Given the description of an element on the screen output the (x, y) to click on. 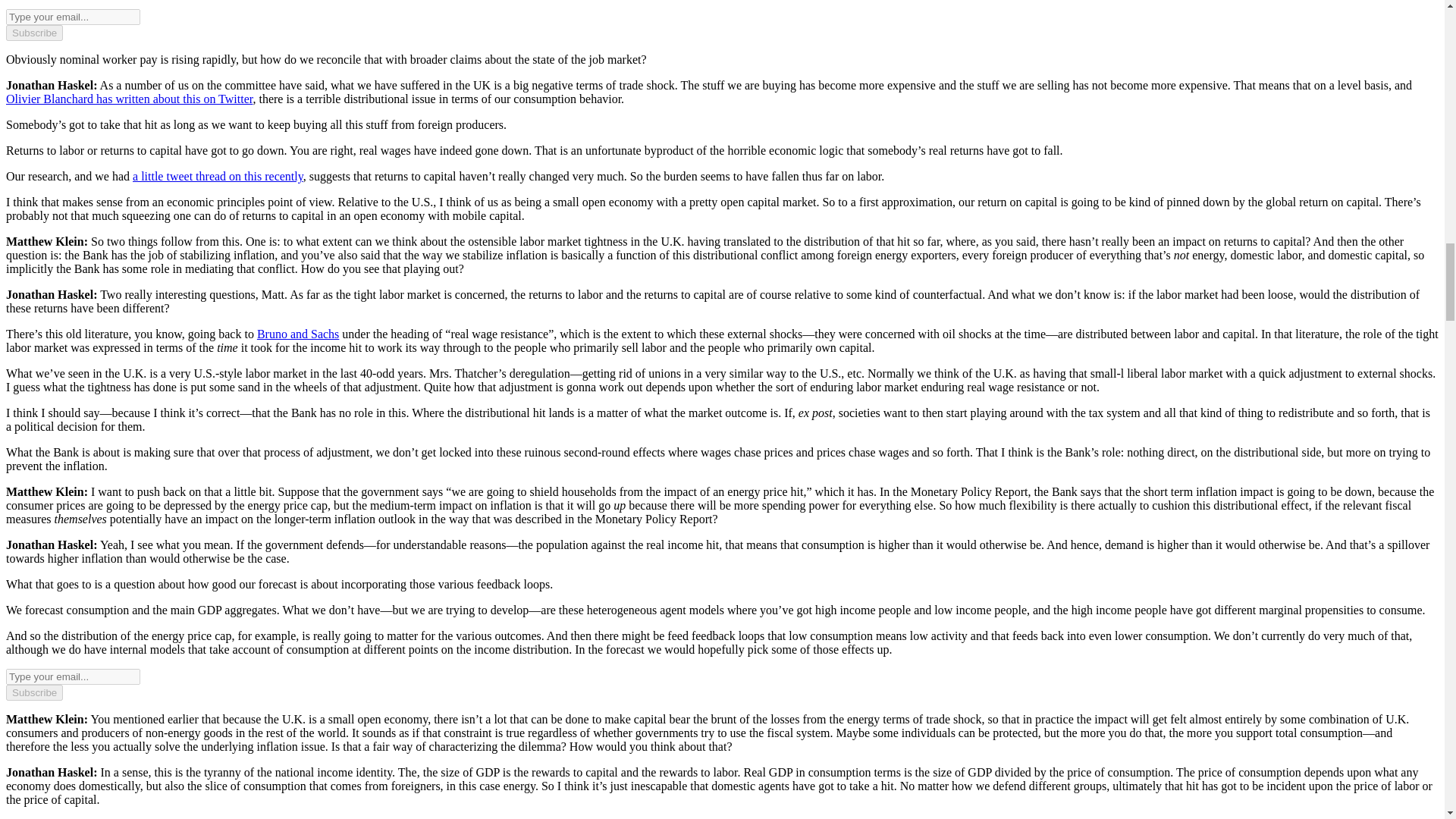
Subscribe (33, 32)
Subscribe (33, 692)
Olivier Blanchard has written about this on Twitter (128, 98)
a little tweet thread on this recently (217, 175)
Bruno and Sachs (298, 333)
